Given the description of an element on the screen output the (x, y) to click on. 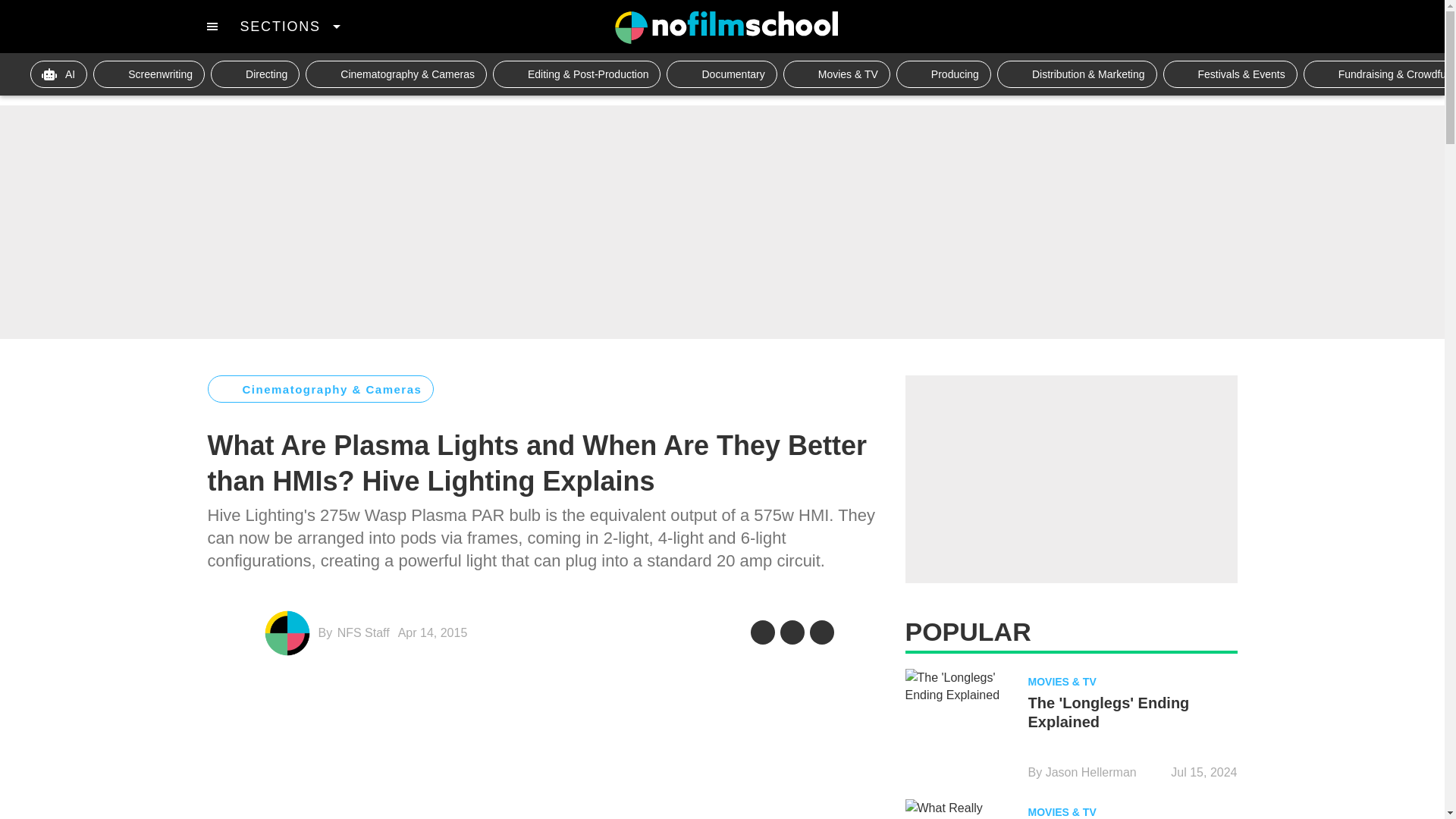
Screenwriting (149, 73)
Producing (943, 73)
NO FILM SCHOOL (725, 27)
Directing (255, 73)
SECTIONS (289, 26)
NO FILM SCHOOL (725, 27)
NFS Staff (363, 632)
Documentary (721, 73)
AI (58, 73)
